Given the description of an element on the screen output the (x, y) to click on. 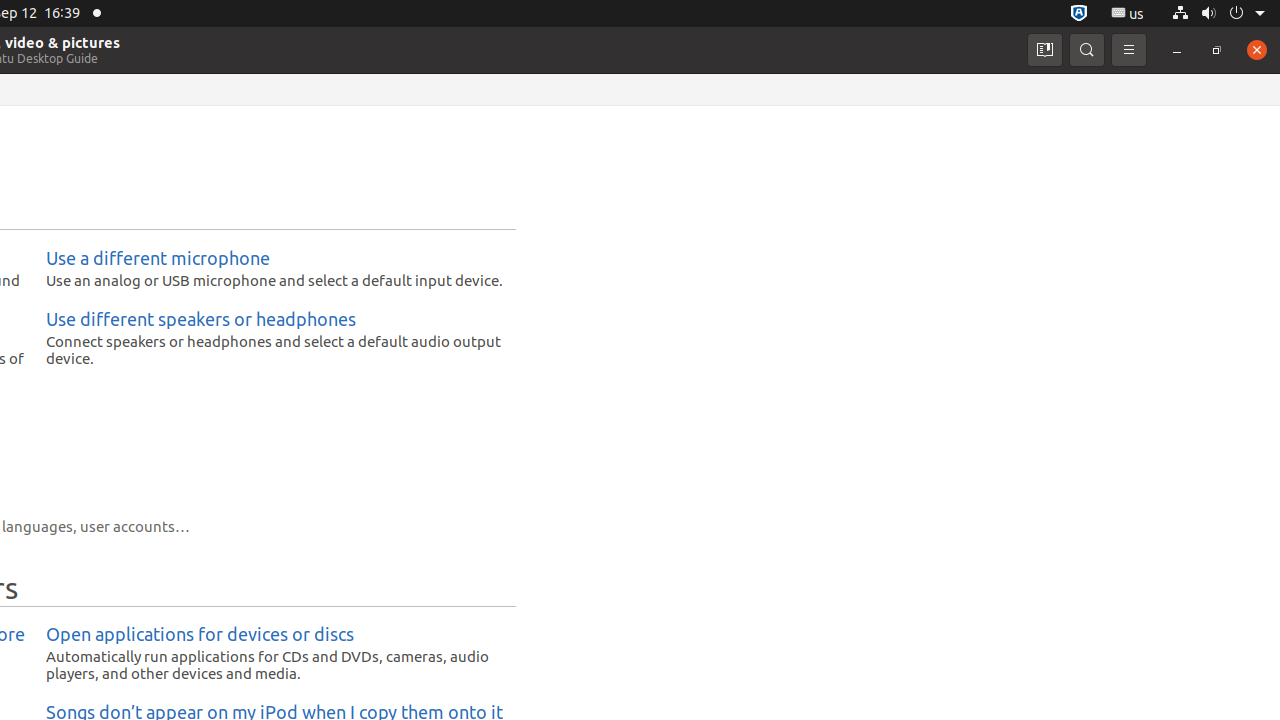
Use a different microphone Use an analog or USB microphone and select a default input device. Element type: link (276, 268)
Minimize Element type: push-button (1177, 50)
Close Element type: push-button (1257, 50)
